Given the description of an element on the screen output the (x, y) to click on. 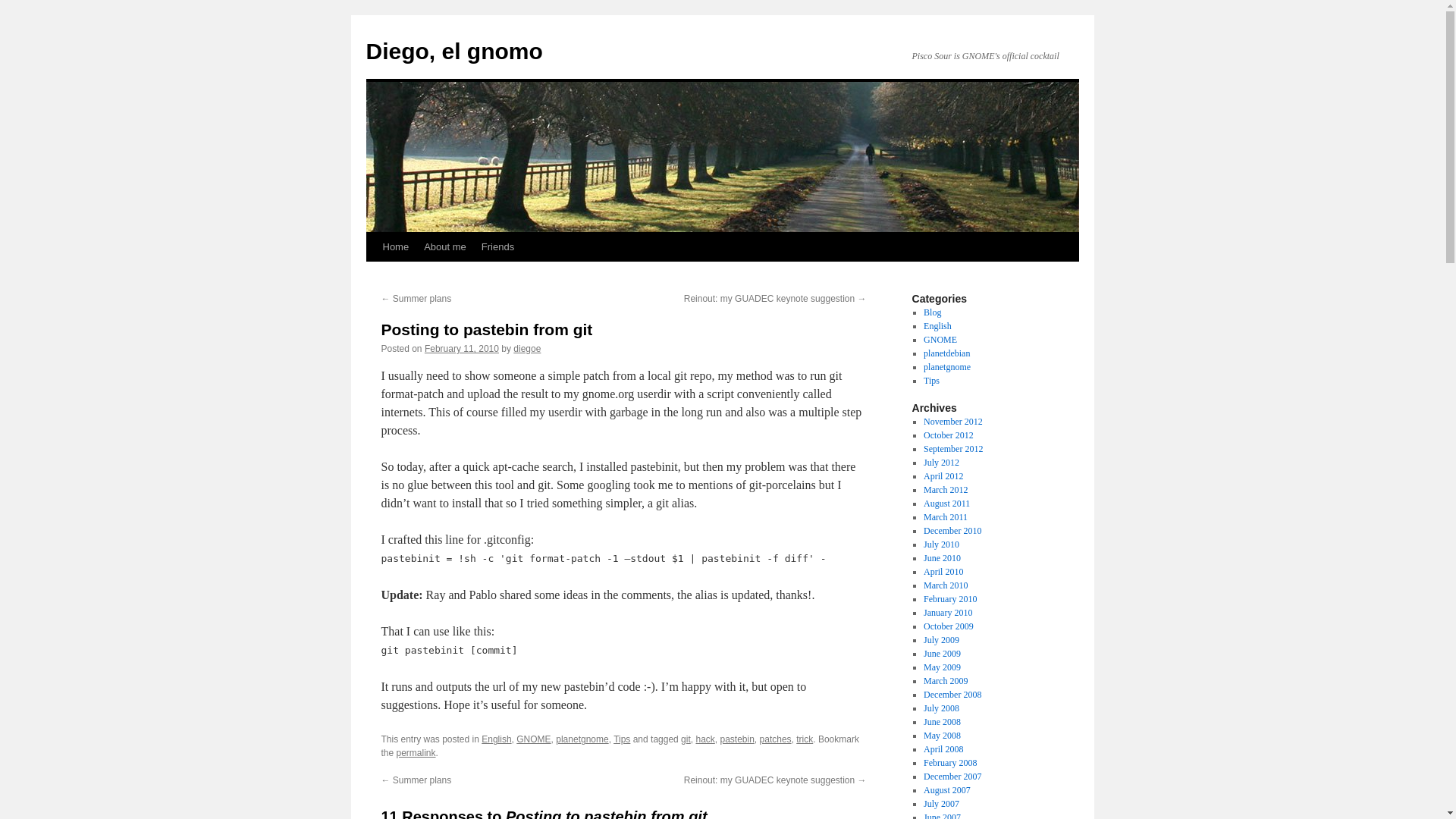
planetgnome (582, 738)
About me (445, 246)
GNOME (533, 738)
hack (704, 738)
English (496, 738)
Tips (621, 738)
Home (395, 246)
diegoe (526, 348)
Diego, el gnomo (453, 50)
git (685, 738)
